Given the description of an element on the screen output the (x, y) to click on. 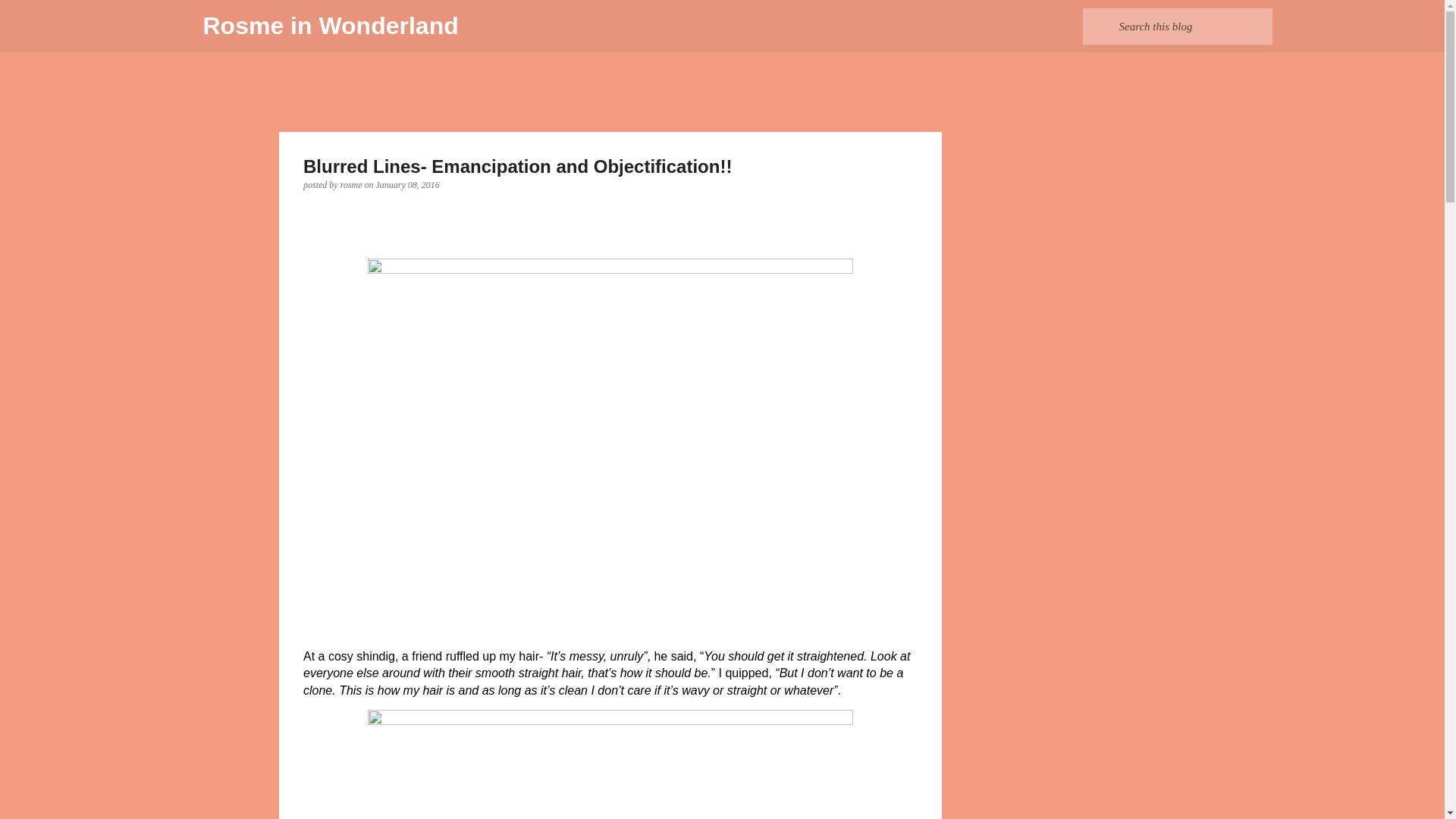
author profile (352, 184)
Rosme in Wonderland (330, 25)
permanent link (407, 184)
January 08, 2016 (407, 184)
rosme (352, 184)
